Given the description of an element on the screen output the (x, y) to click on. 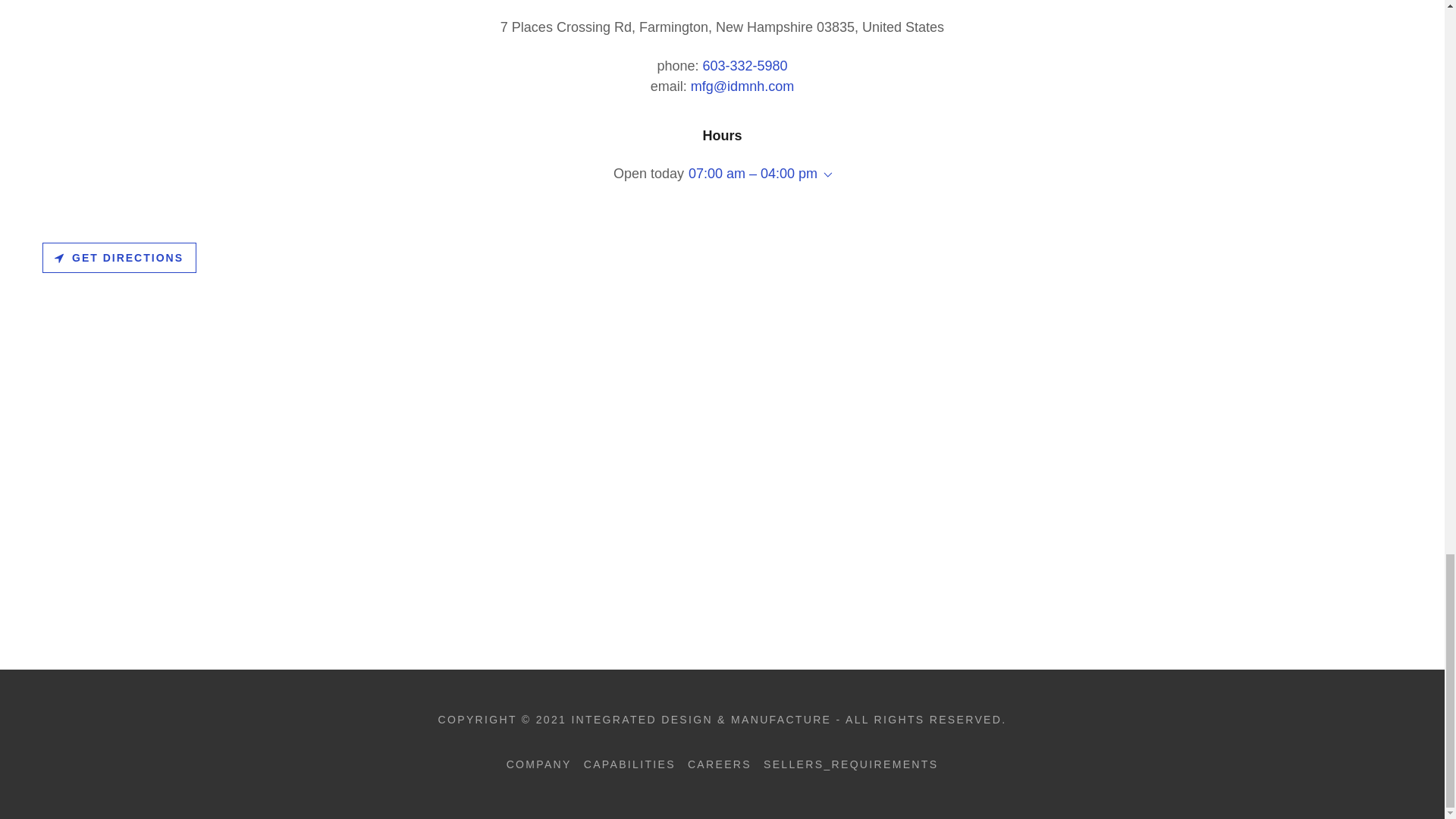
GET DIRECTIONS (119, 257)
CAREERS (719, 764)
CAPABILITIES (629, 764)
603-332-5980 (744, 65)
COMPANY (539, 764)
